Given the description of an element on the screen output the (x, y) to click on. 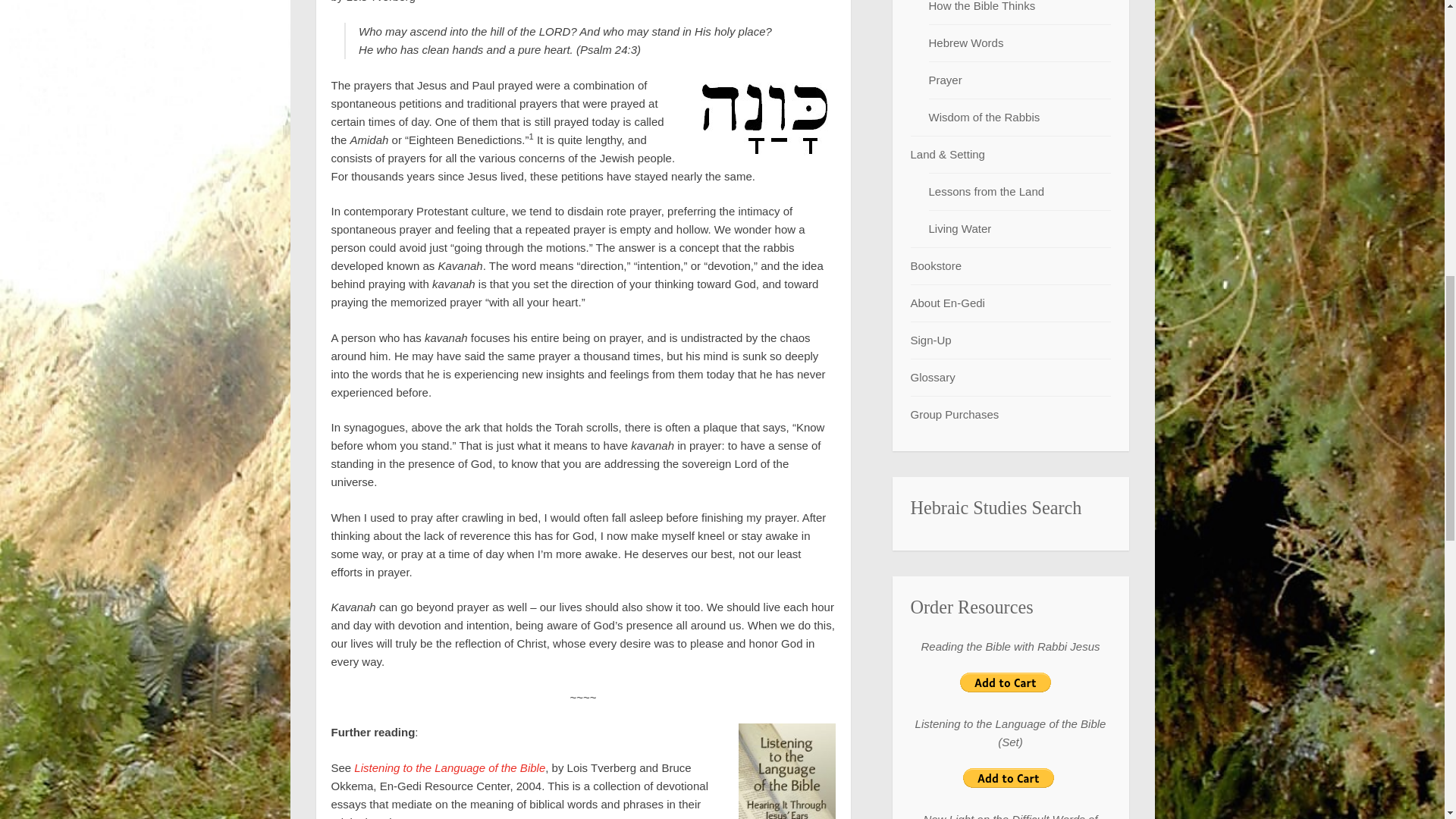
Listening to the Language of the Bible (448, 767)
